Given the description of an element on the screen output the (x, y) to click on. 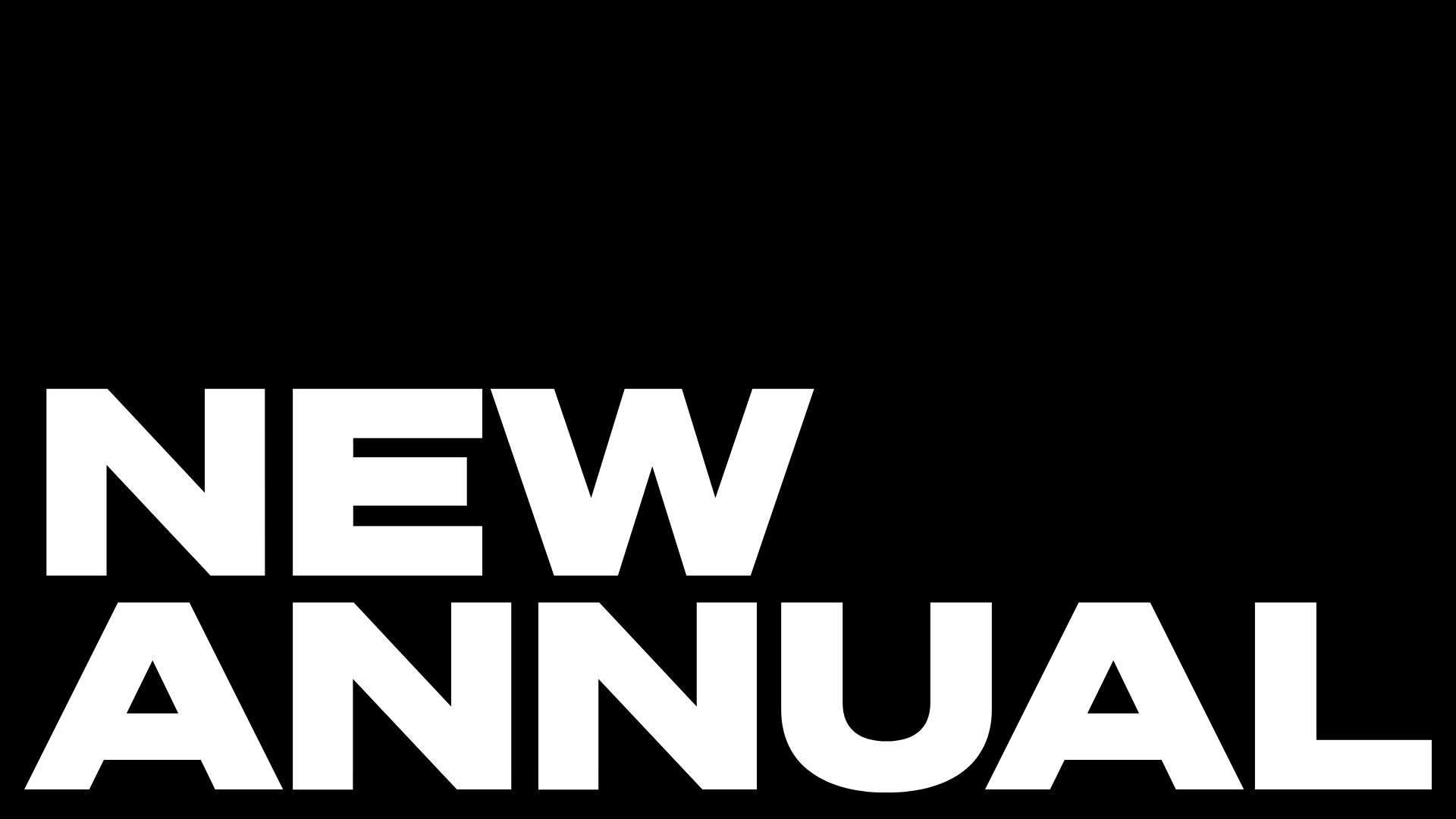
Close Element type: text (968, 243)
